Given the description of an element on the screen output the (x, y) to click on. 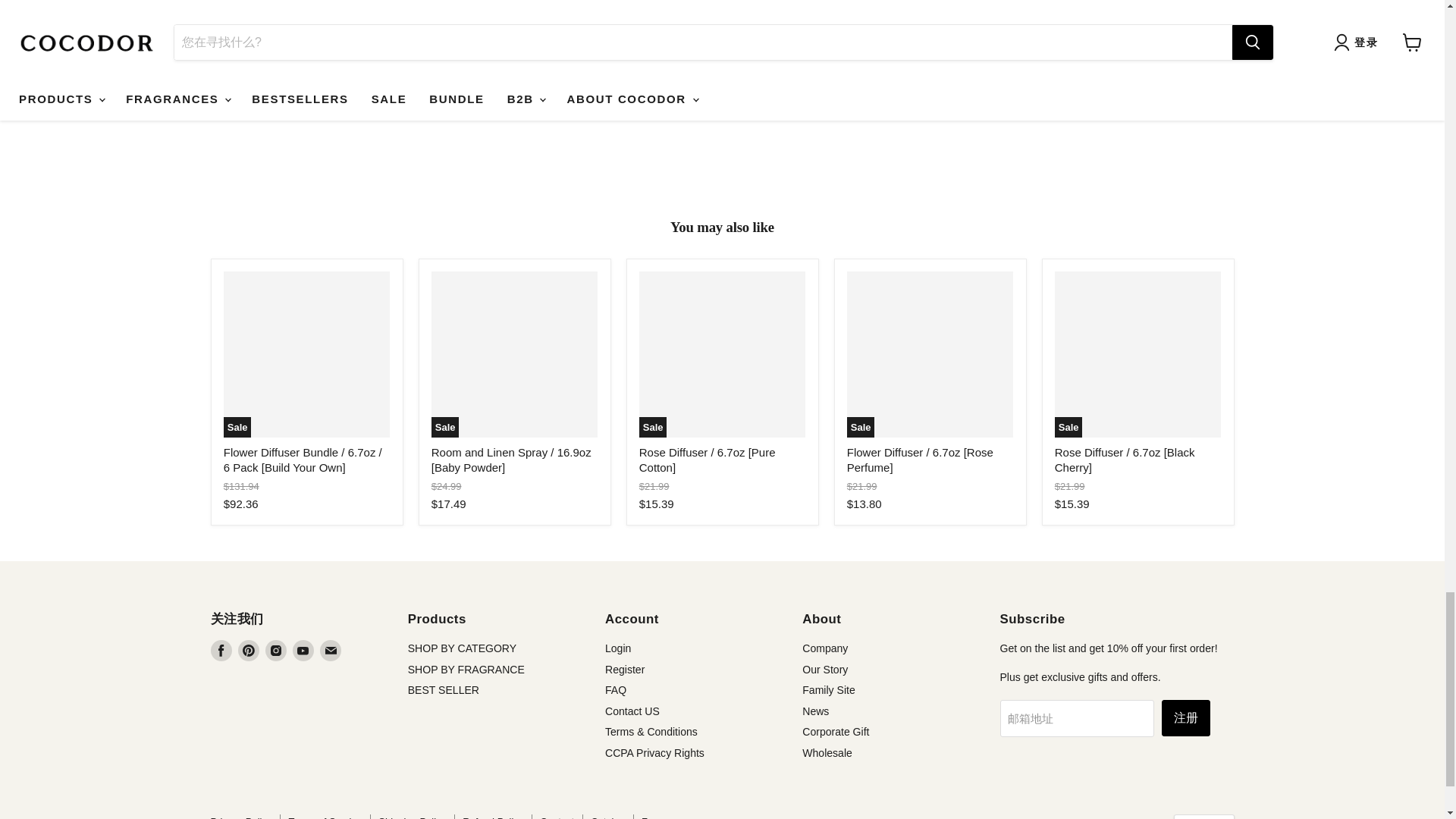
Youtube (303, 649)
Instagram (275, 649)
Pinterest (248, 649)
Facebook (221, 649)
